Given the description of an element on the screen output the (x, y) to click on. 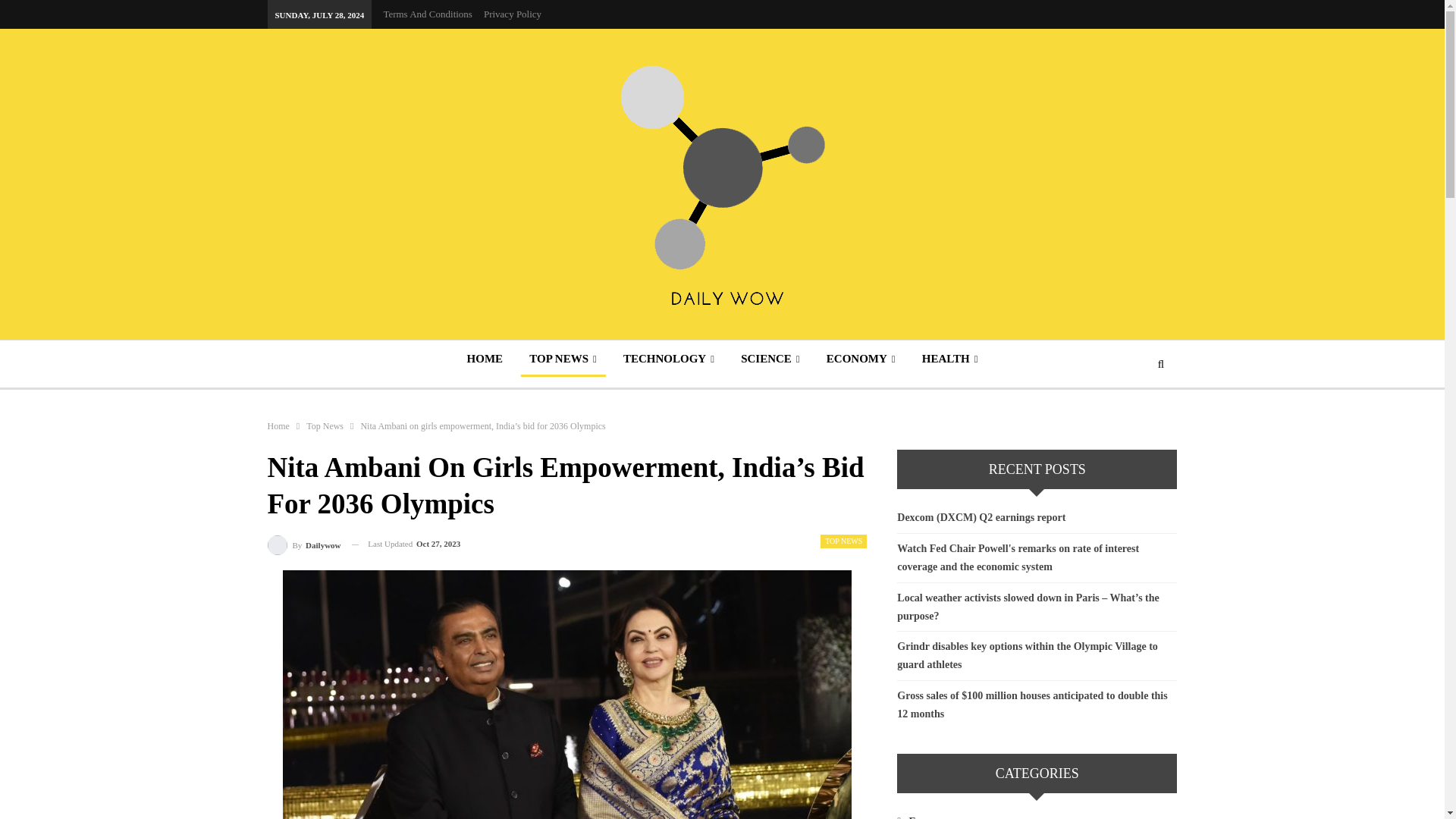
TECHNOLOGY (668, 358)
Privacy Policy (512, 13)
Terms And Conditions (426, 13)
SCIENCE (770, 358)
HOME (485, 358)
TOP NEWS (562, 358)
